Given the description of an element on the screen output the (x, y) to click on. 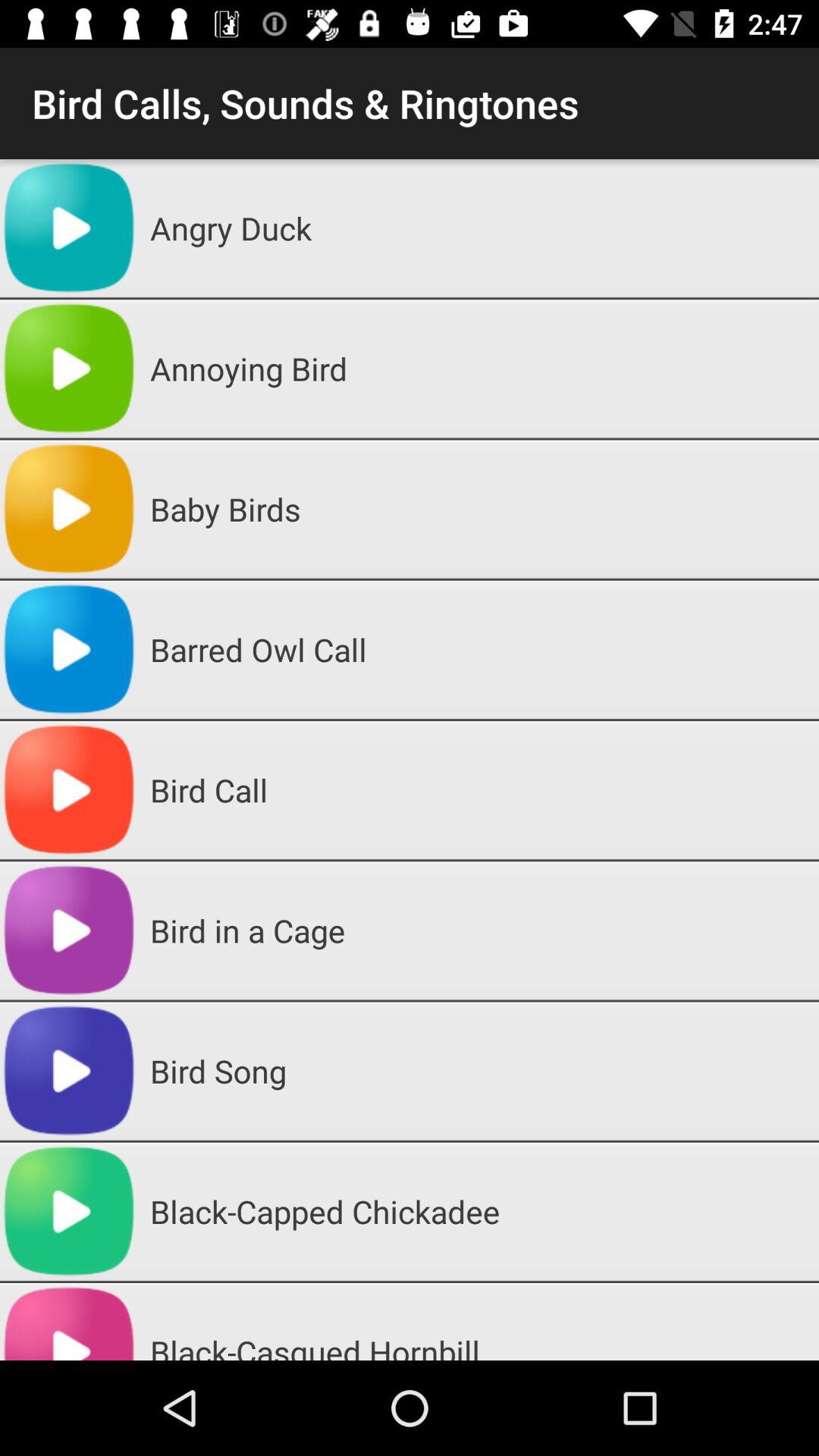
click black-capped chickadee app (478, 1211)
